Given the description of an element on the screen output the (x, y) to click on. 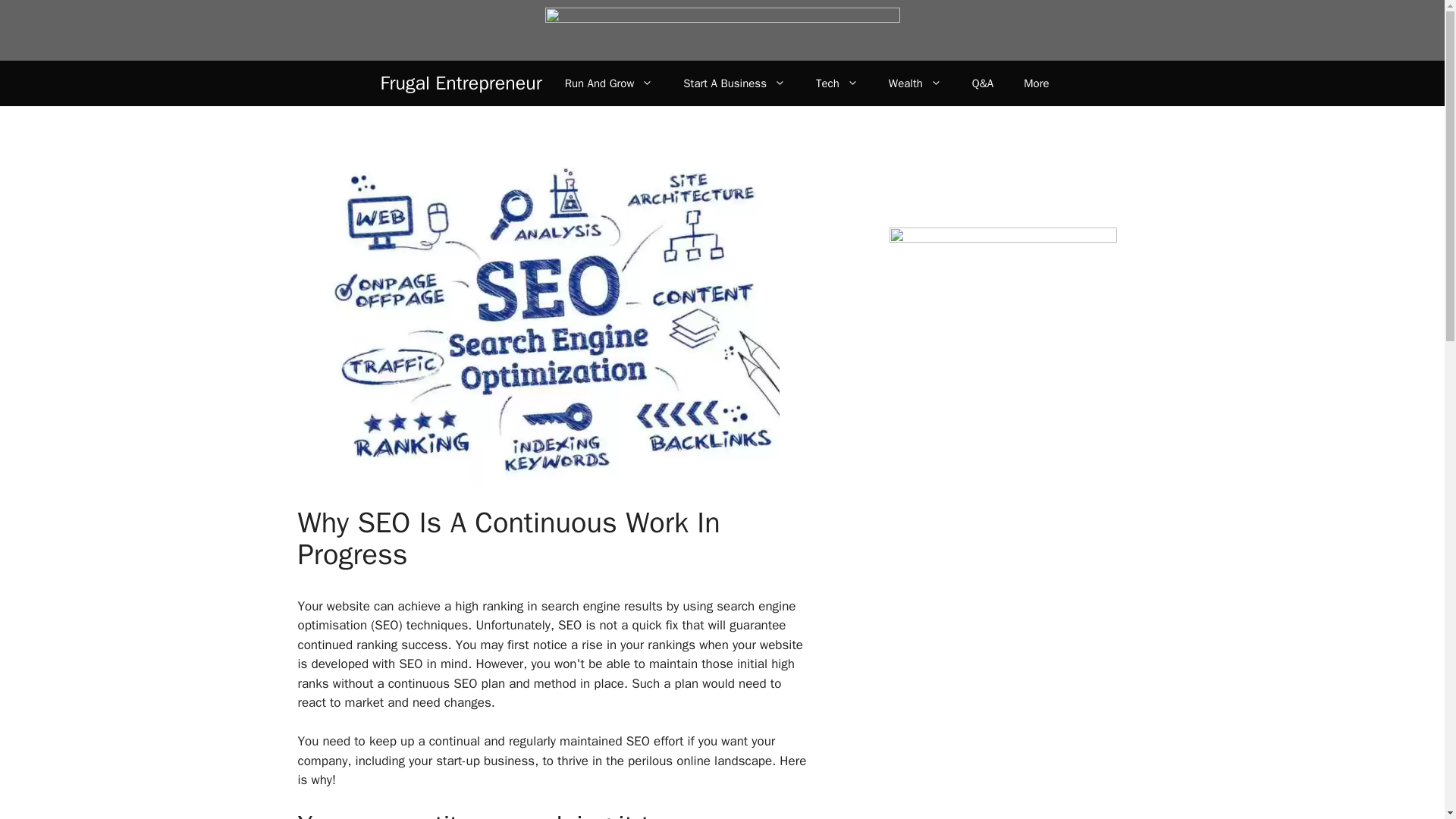
Tech (836, 83)
Start A Business (734, 83)
Frugal Entrepreneur (460, 83)
Run And Grow (609, 83)
